Given the description of an element on the screen output the (x, y) to click on. 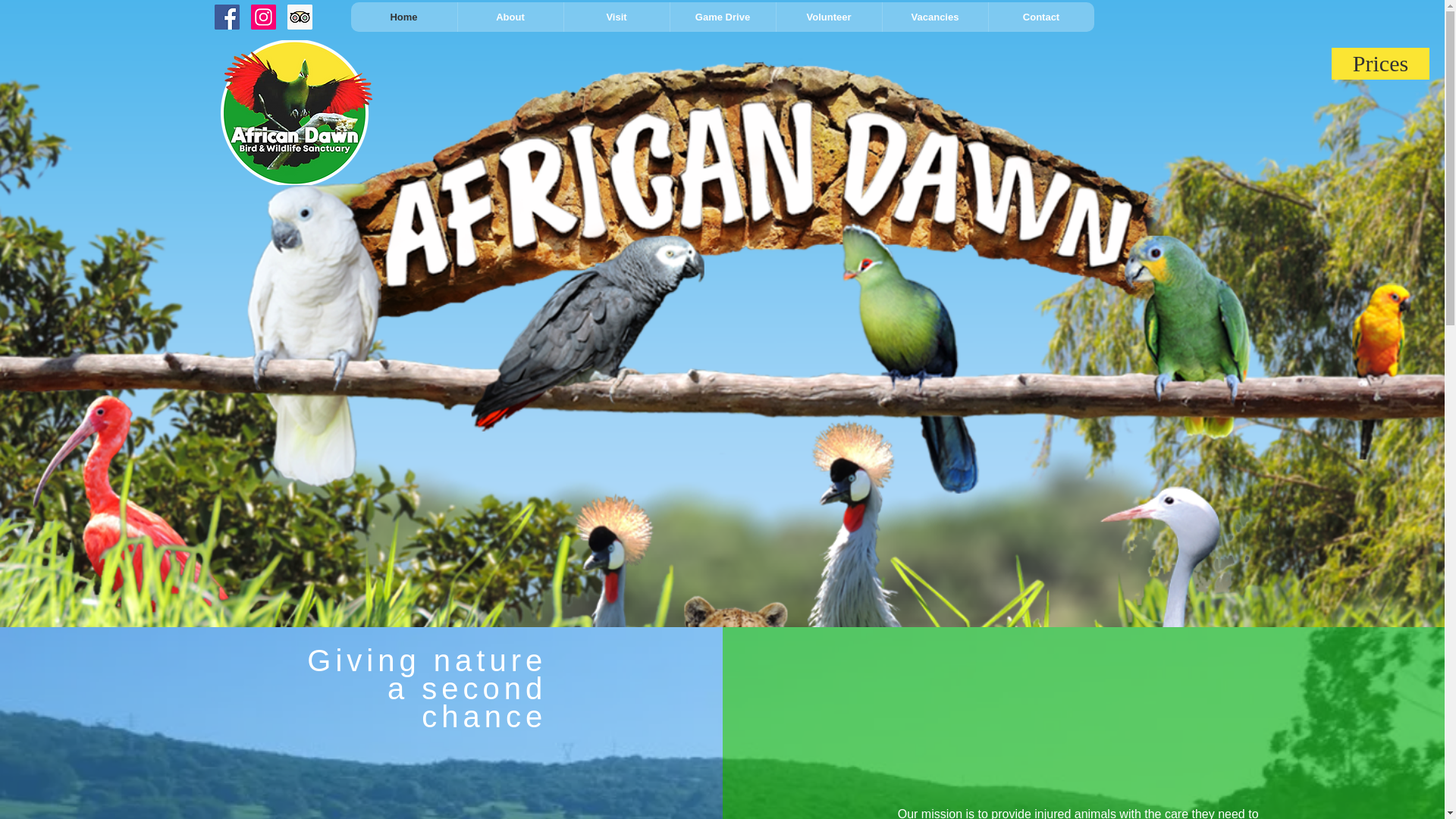
Visit (615, 16)
Prices (1380, 63)
Game Drive (721, 16)
About (509, 16)
Contact (1040, 16)
Vacancies (933, 16)
Home (403, 16)
Volunteer (827, 16)
